Given the description of an element on the screen output the (x, y) to click on. 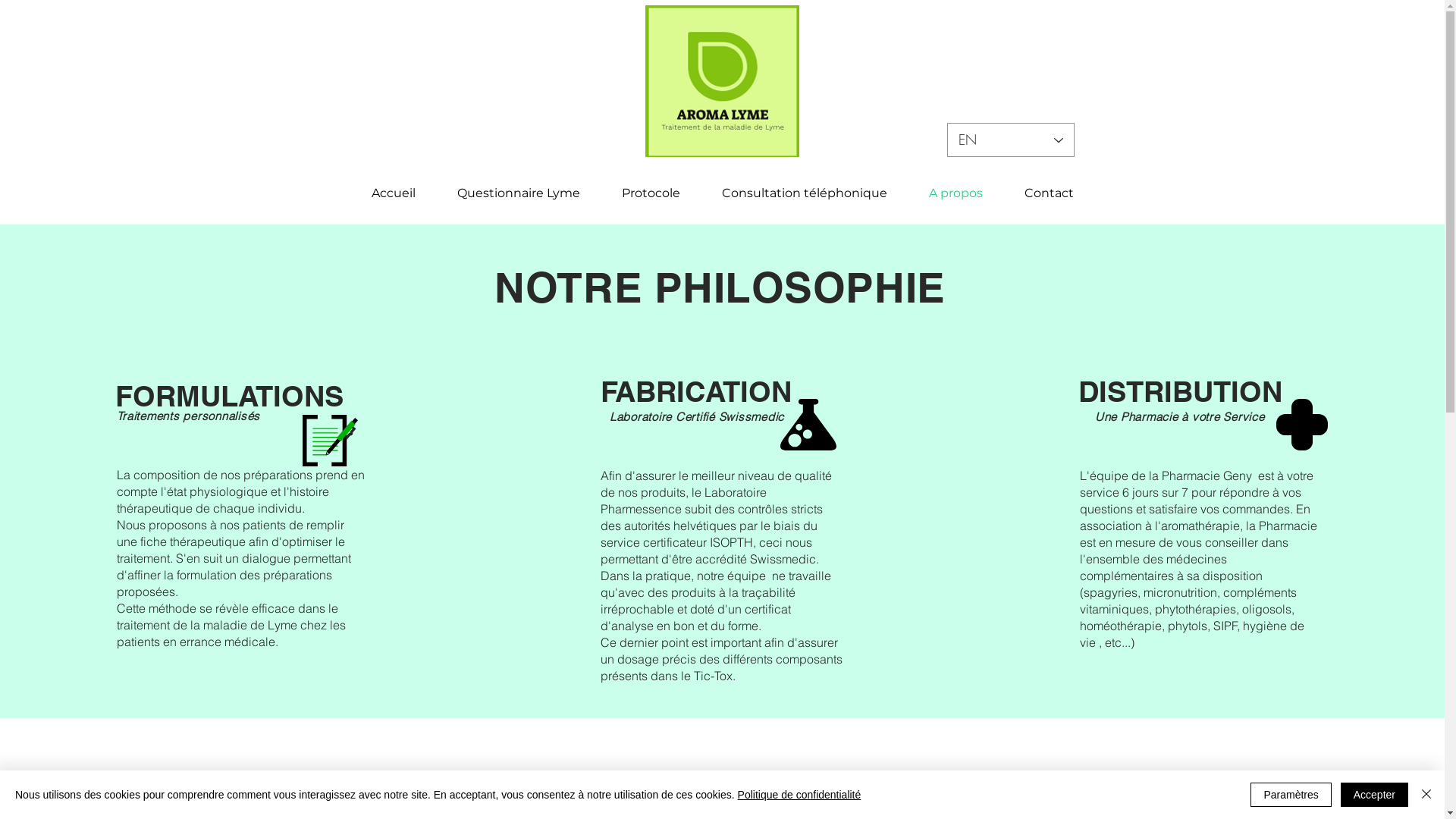
Accueil Element type: text (393, 192)
Contact Element type: text (1049, 192)
Protocole Element type: text (650, 192)
Accepter Element type: text (1374, 794)
Questionnaire Lyme Element type: text (518, 192)
A propos Element type: text (956, 192)
